Given the description of an element on the screen output the (x, y) to click on. 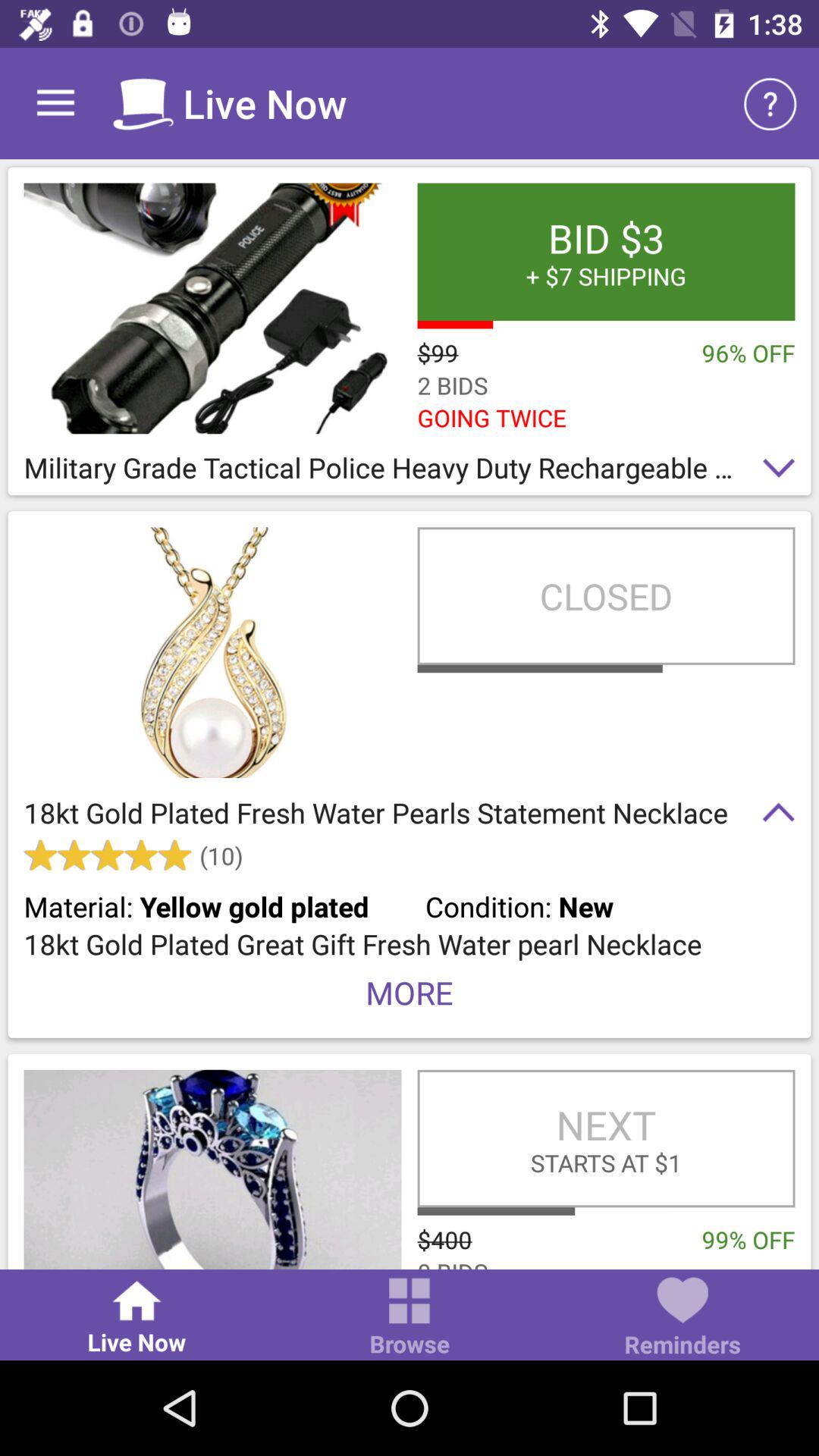
jump until browse icon (409, 1318)
